Given the description of an element on the screen output the (x, y) to click on. 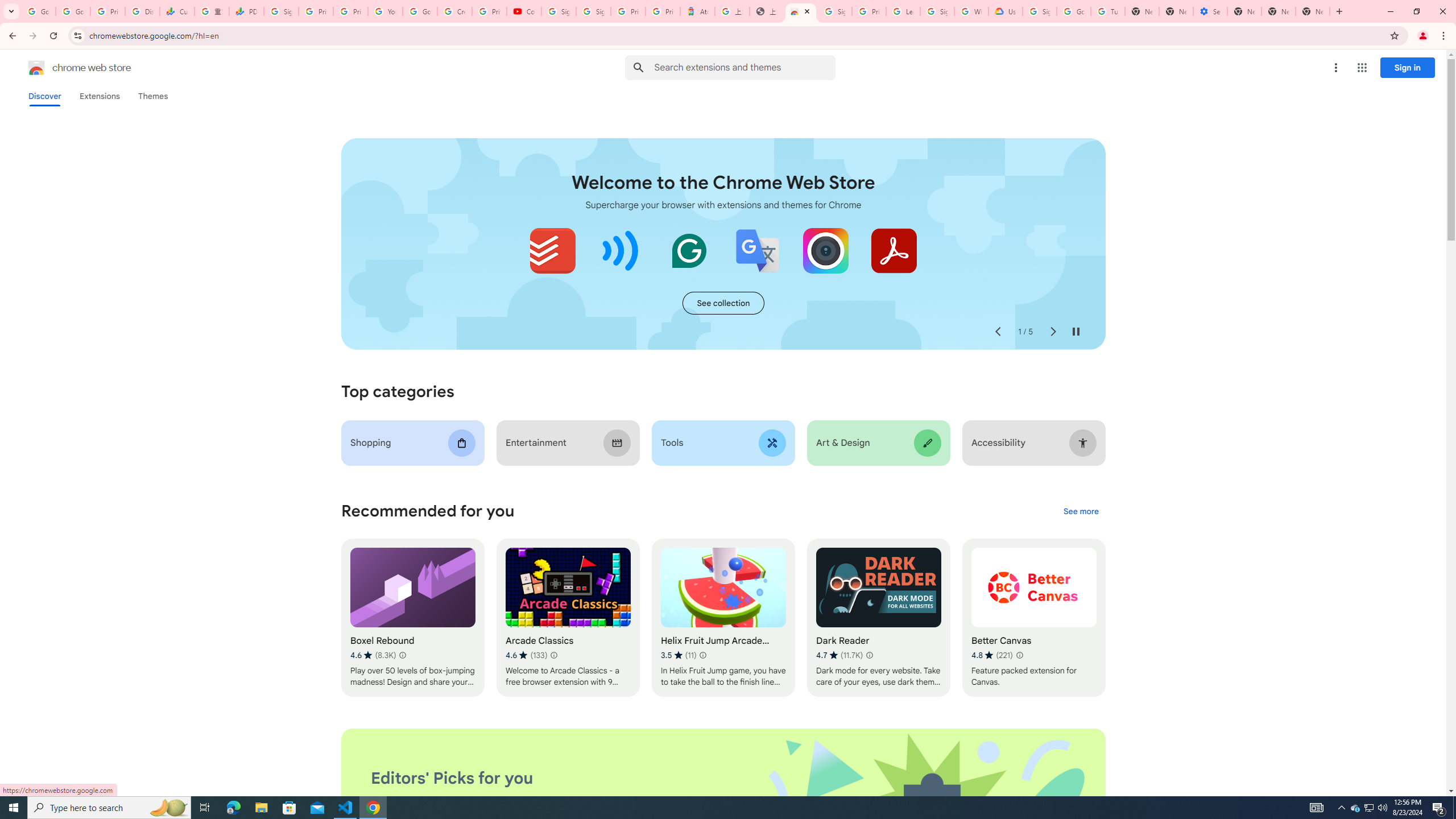
Privacy Checkup (349, 11)
